Given the description of an element on the screen output the (x, y) to click on. 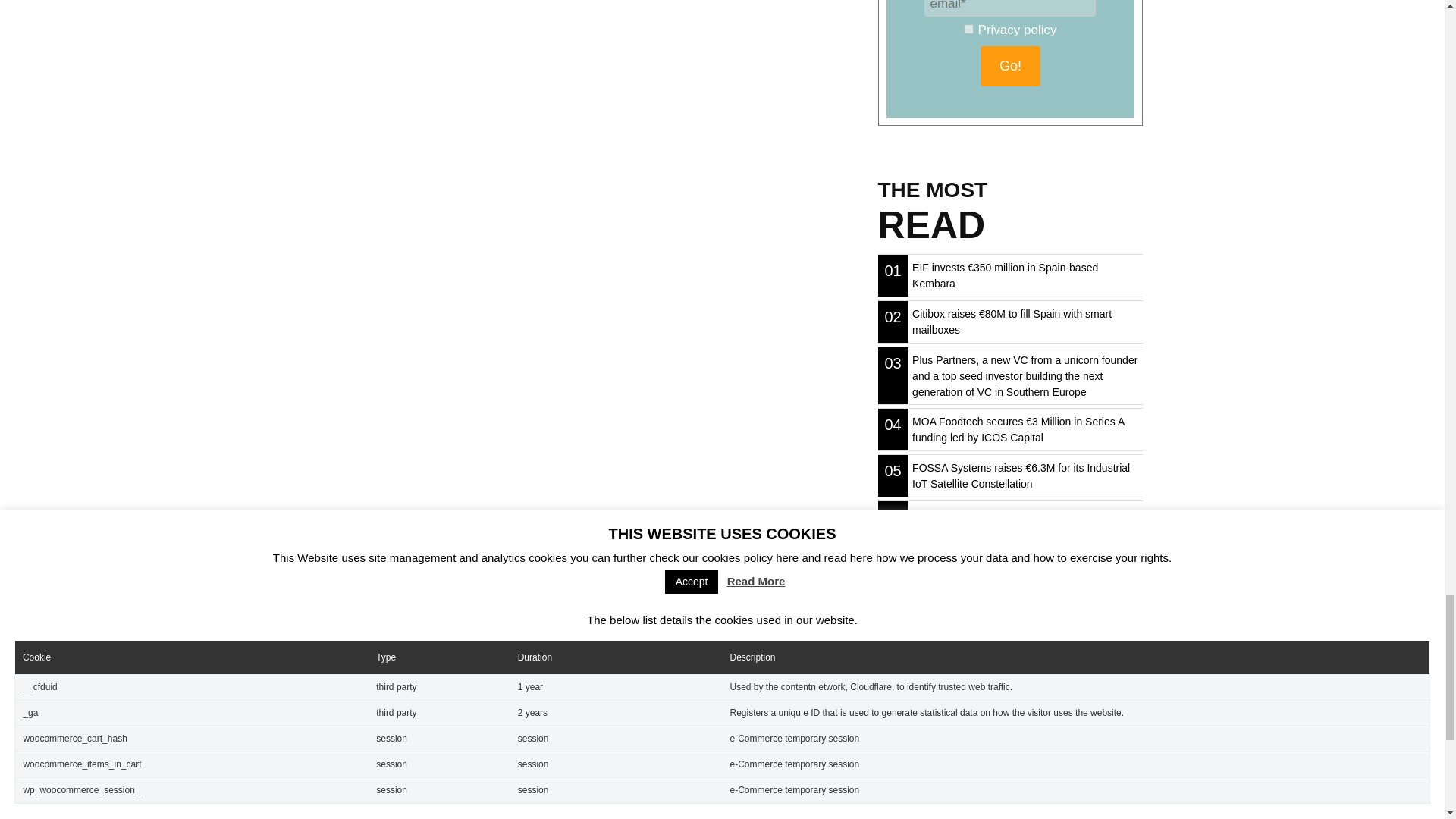
1 (968, 29)
Go! (1010, 65)
